Given the description of an element on the screen output the (x, y) to click on. 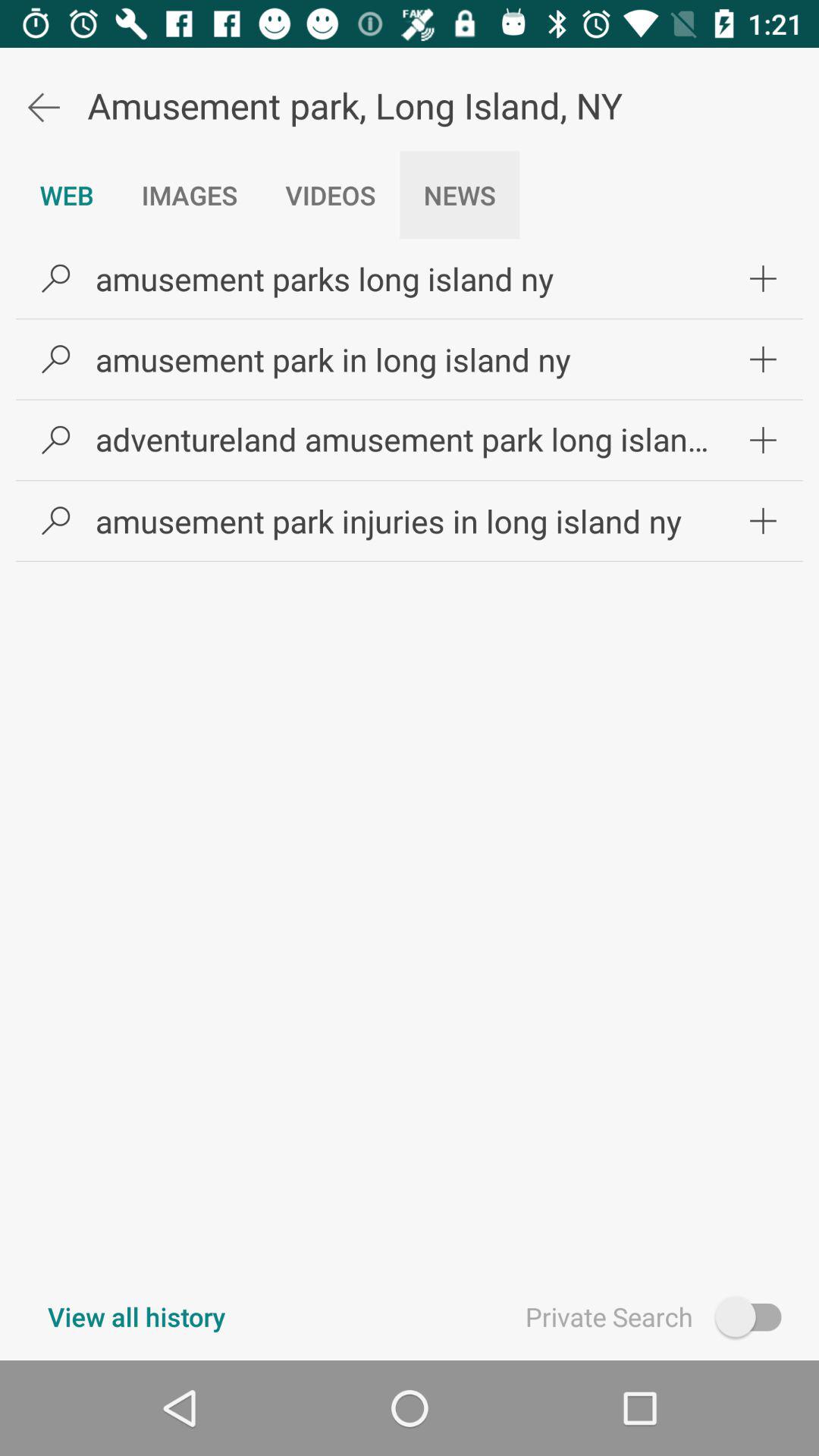
choose item to the right of the private search (755, 1316)
